Given the description of an element on the screen output the (x, y) to click on. 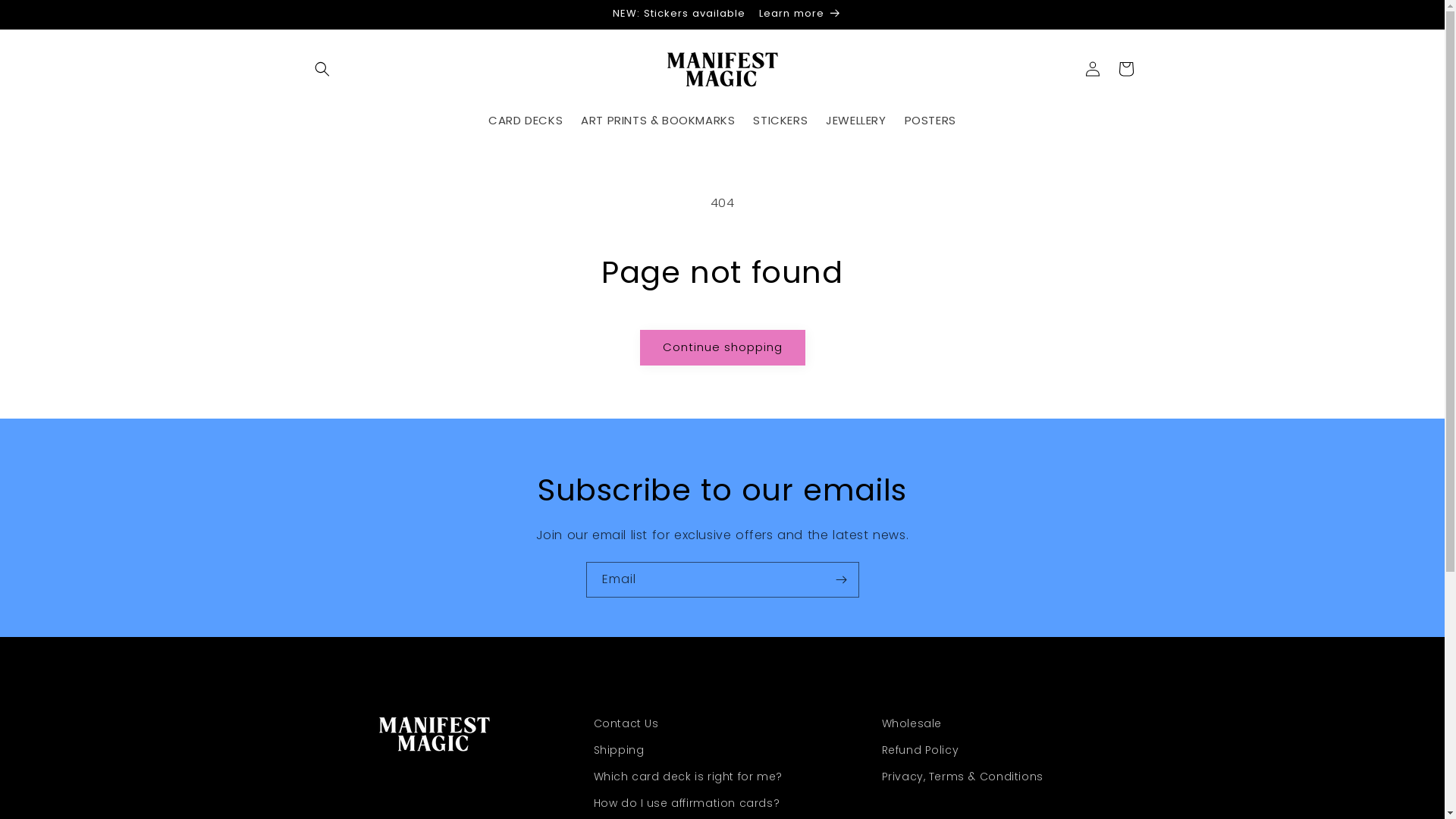
Privacy, Terms & Conditions Element type: text (961, 776)
Wholesale Element type: text (911, 725)
Shipping Element type: text (618, 750)
Contact Us Element type: text (625, 725)
Which card deck is right for me? Element type: text (687, 776)
JEWELLERY Element type: text (855, 119)
Refund Policy Element type: text (919, 750)
Continue shopping Element type: text (722, 347)
How do I use affirmation cards? Element type: text (686, 803)
Log in Element type: text (1091, 67)
ART PRINTS & BOOKMARKS Element type: text (657, 119)
Cart Element type: text (1125, 67)
STICKERS Element type: text (779, 119)
POSTERS Element type: text (930, 119)
CARD DECKS Element type: text (525, 119)
